Given the description of an element on the screen output the (x, y) to click on. 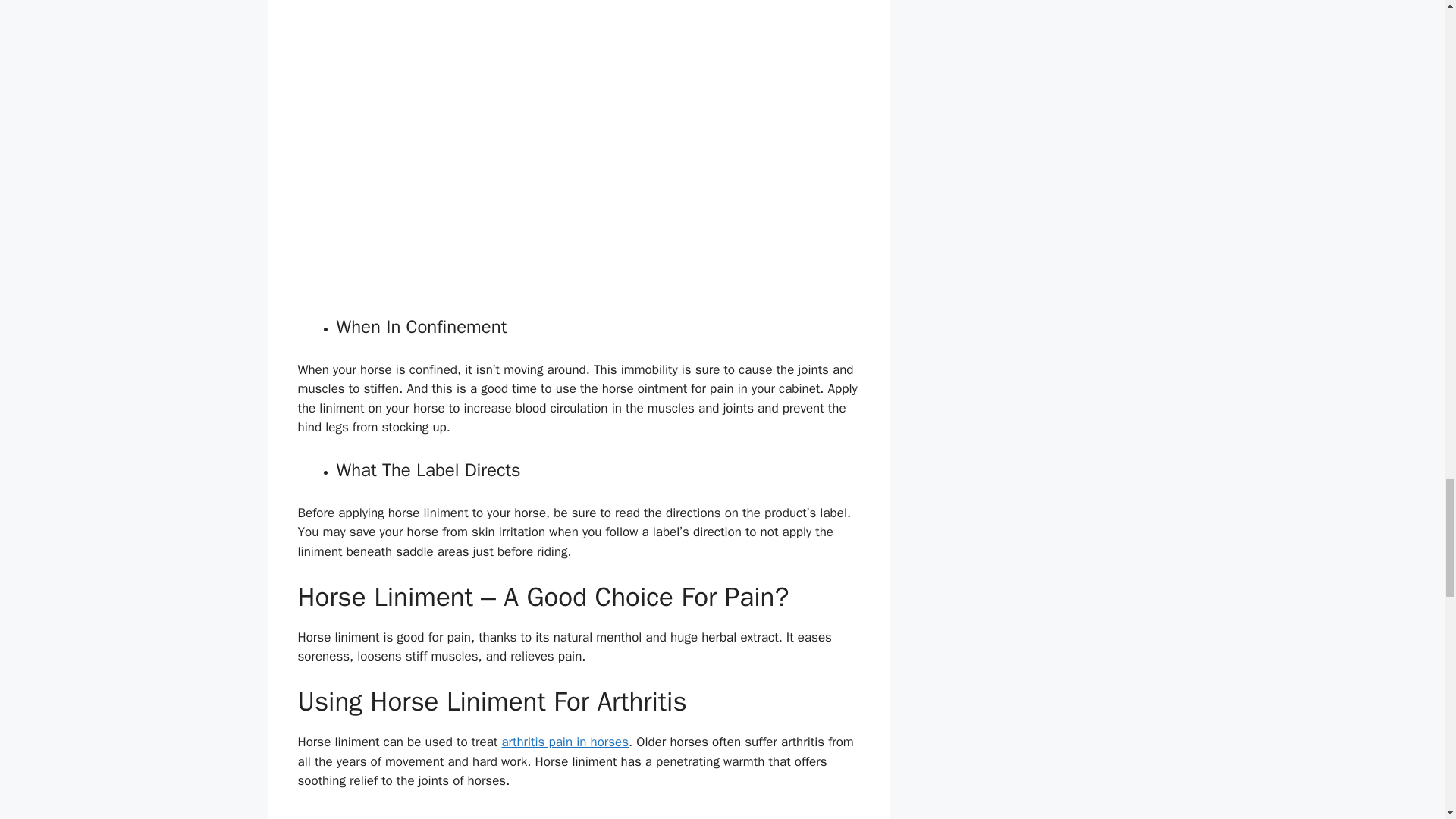
arthritis pain in horses (564, 741)
